Given the description of an element on the screen output the (x, y) to click on. 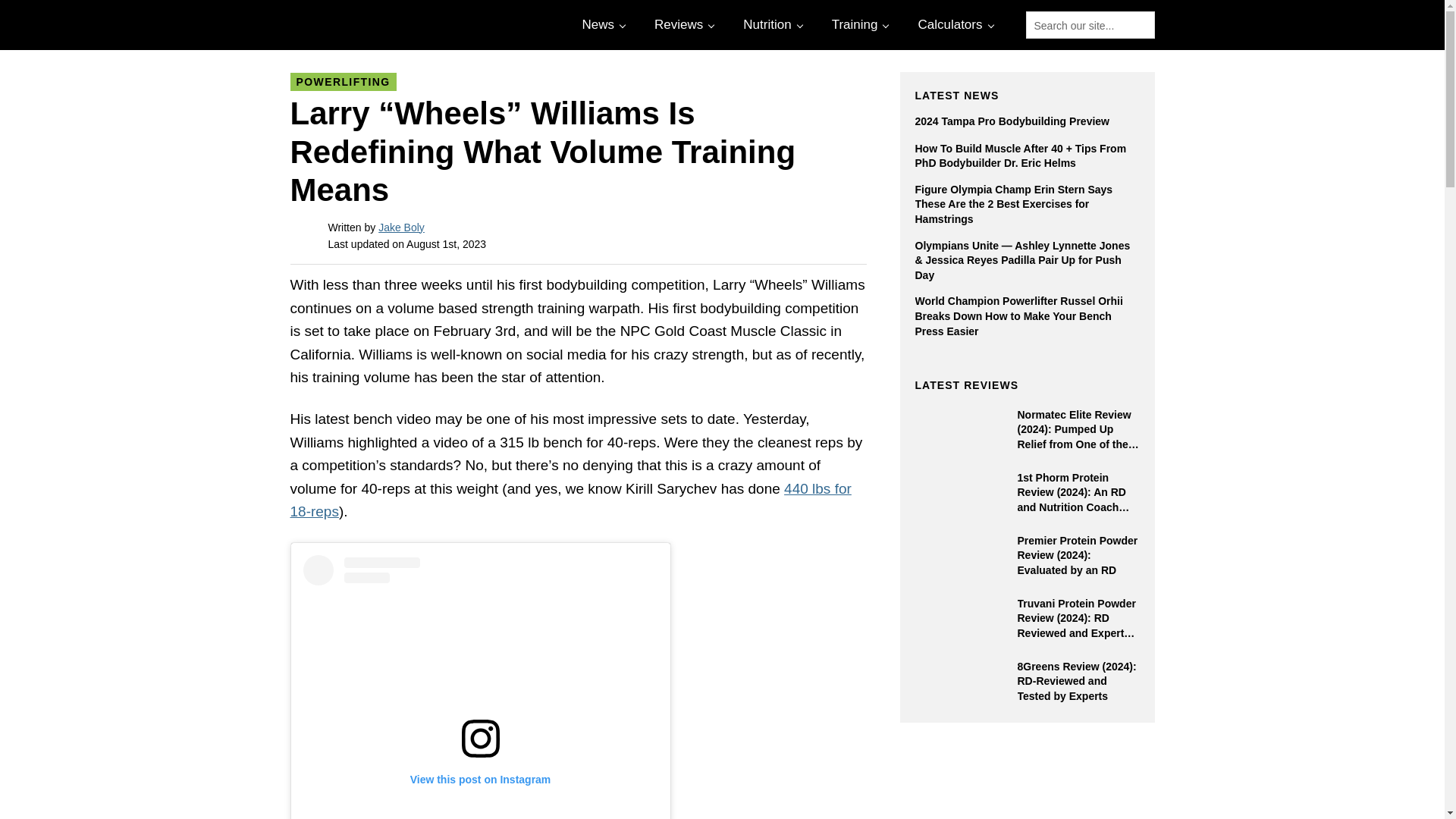
Reviews (682, 24)
News (602, 24)
